Given the description of an element on the screen output the (x, y) to click on. 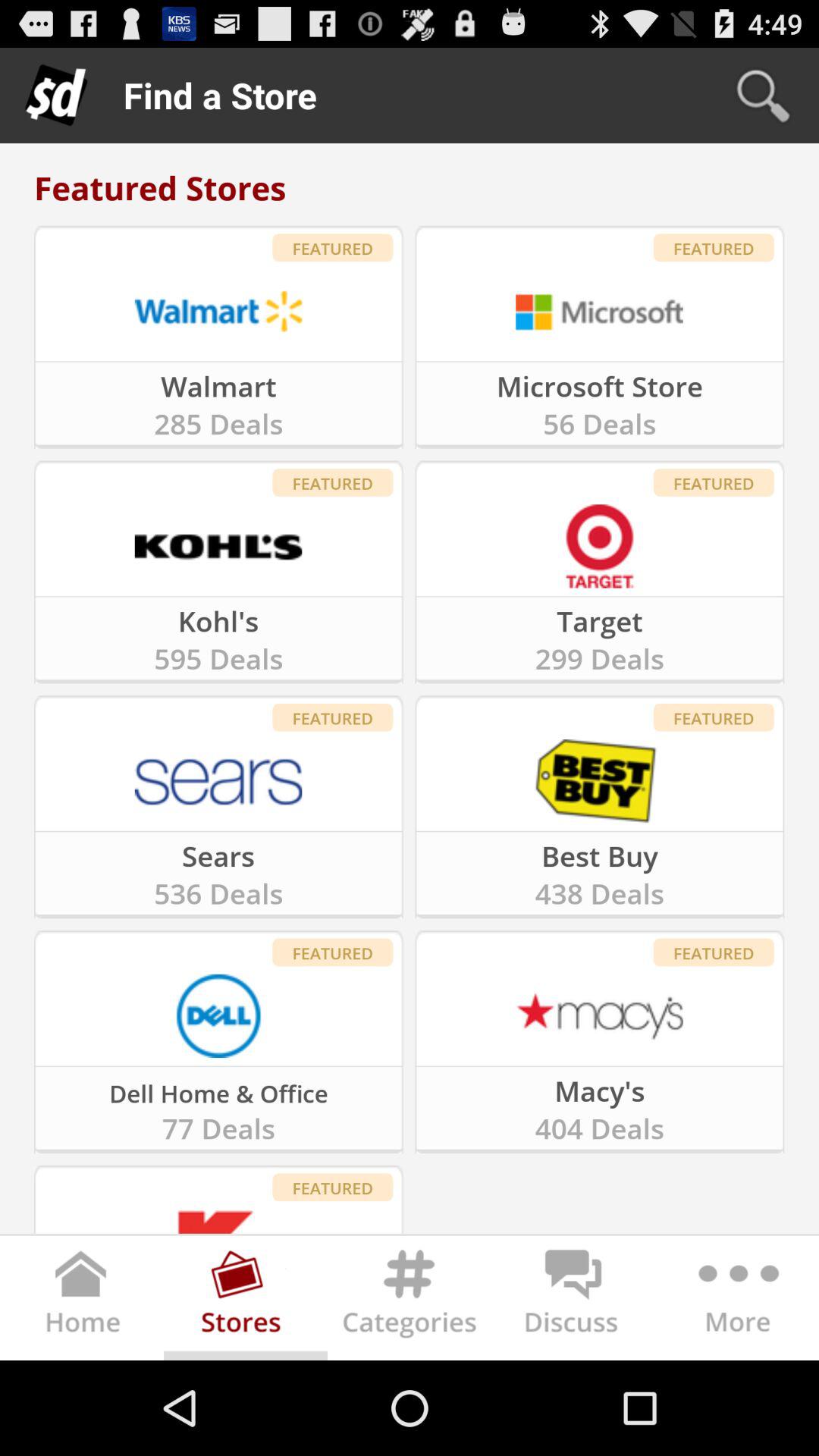
discussion (573, 1301)
